Given the description of an element on the screen output the (x, y) to click on. 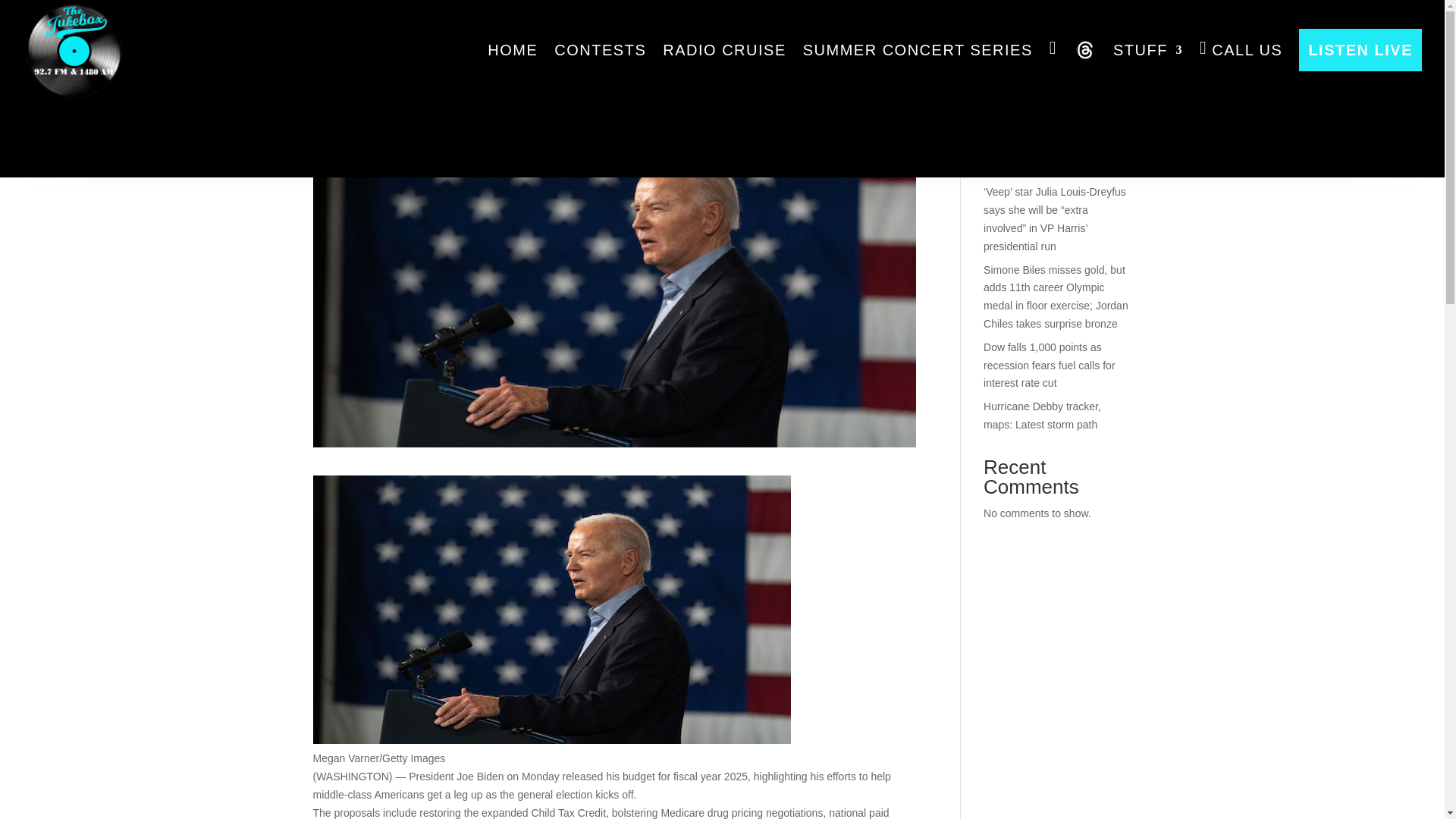
Posts by admin (340, 82)
Hurricane Debby tracker, maps: Latest storm path (1042, 415)
Politics (451, 82)
RADIO CRUISE (724, 49)
CONTESTS (600, 49)
LISTEN LIVE (1360, 49)
Search (1106, 59)
admin (340, 82)
SUMMER CONCERT SERIES (917, 49)
